Given the description of an element on the screen output the (x, y) to click on. 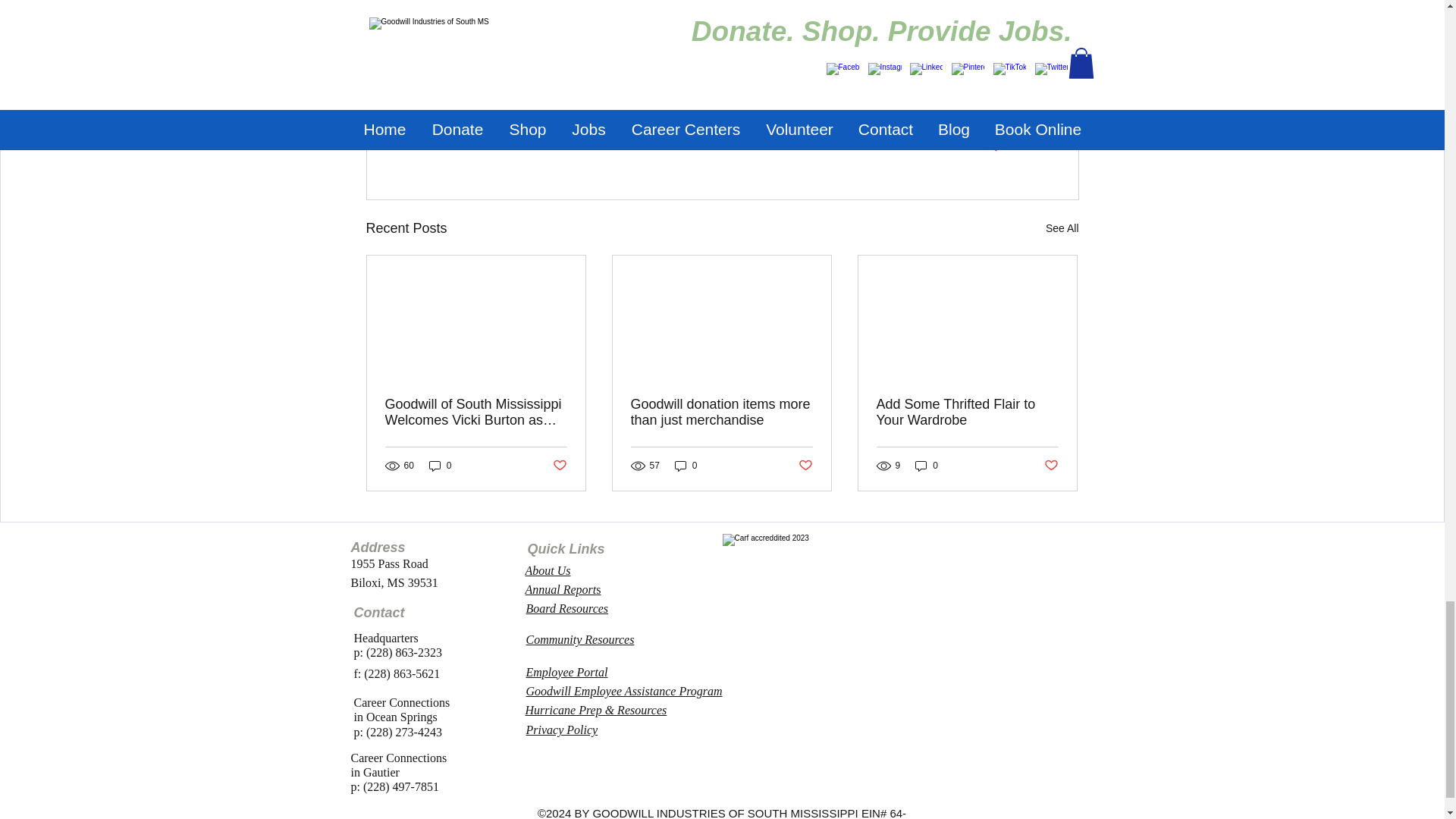
Add Some Thrifted Flair to Your Wardrobe (967, 412)
Goodwill donation items more than just merchandise (721, 412)
Post not marked as liked (990, 145)
About Us (1050, 465)
Post not marked as liked (547, 570)
0 (804, 465)
0 (685, 465)
Post not marked as liked (440, 465)
0 (558, 465)
See All (926, 465)
CARF Certification logo.jpg (1061, 228)
